Given the description of an element on the screen output the (x, y) to click on. 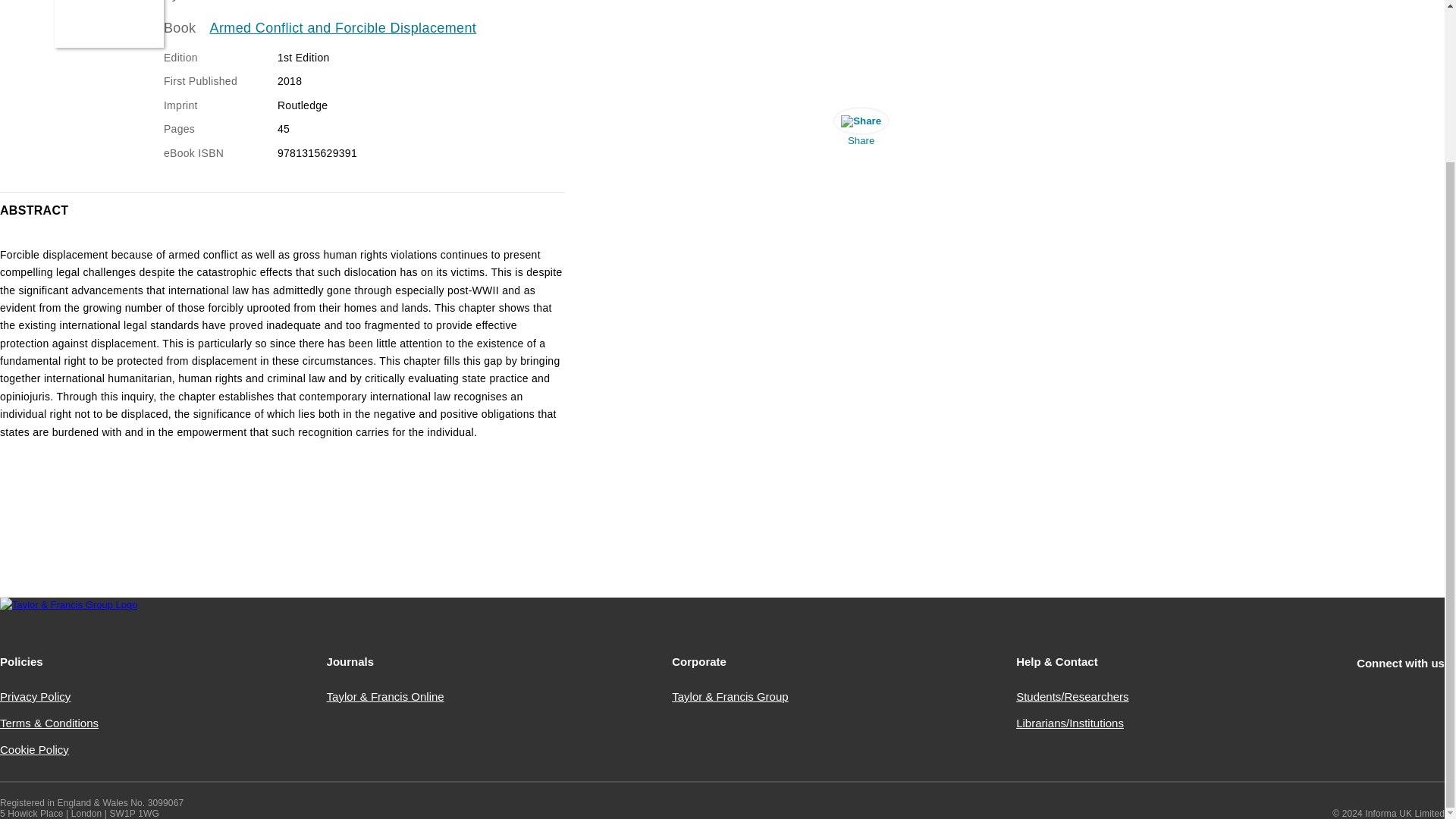
Elena Katselli Proukaki (257, 0)
Privacy Policy (34, 696)
Cookie Policy (34, 749)
Armed Conflict and Forcible Displacement (343, 28)
Share (860, 130)
